Given the description of an element on the screen output the (x, y) to click on. 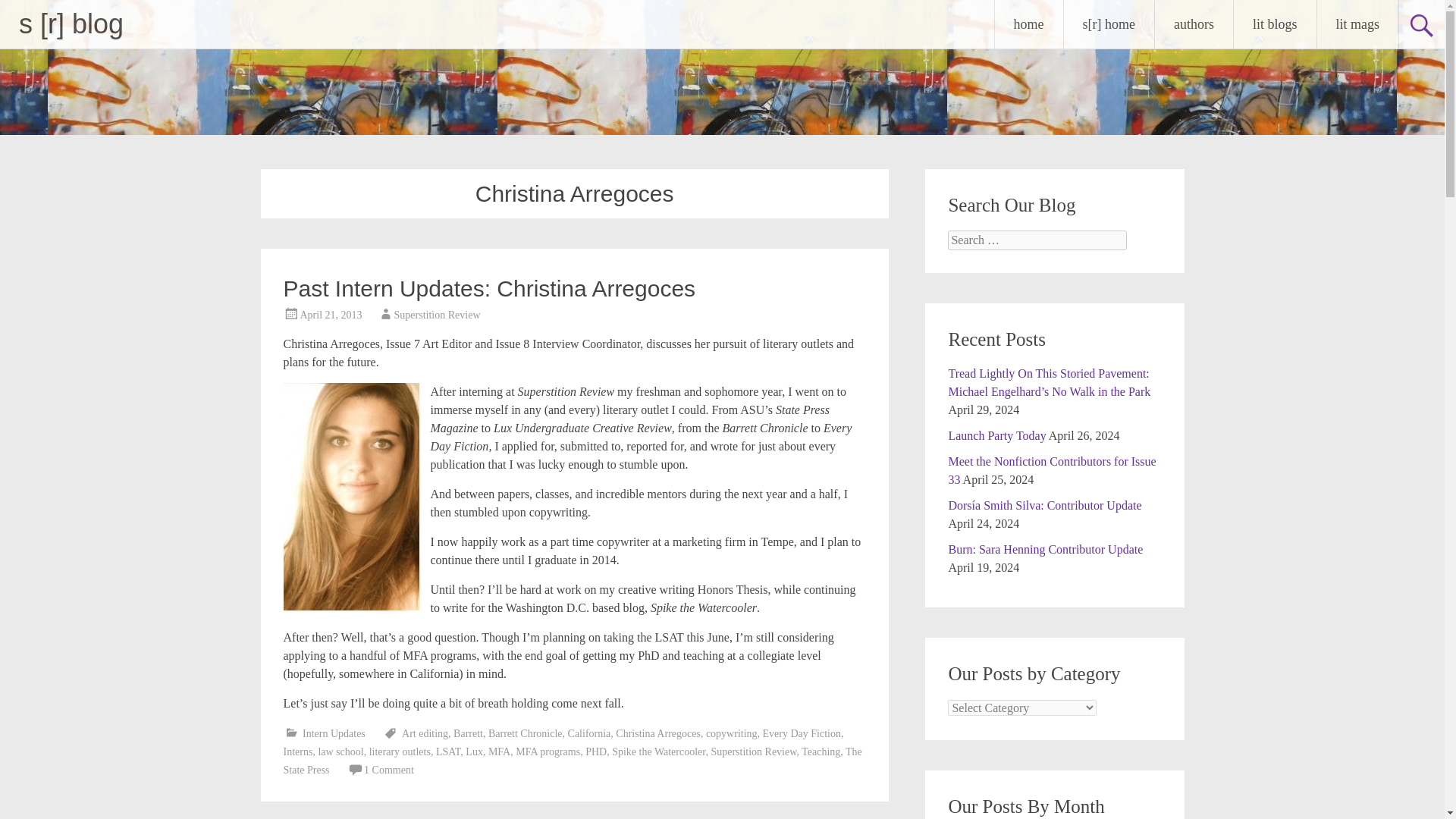
PHD (596, 751)
Superstition Review (753, 751)
April 21, 2013 (330, 315)
Past Intern Updates: Christina Arregoces (489, 288)
Barrett (467, 733)
LSAT (447, 751)
authors (1193, 24)
literary outlets (399, 751)
Teaching (821, 751)
Lux (474, 751)
Art editing (424, 733)
Christina Arregoces (657, 733)
The State Press (572, 760)
Every Day Fiction (801, 733)
MFA programs (547, 751)
